Given the description of an element on the screen output the (x, y) to click on. 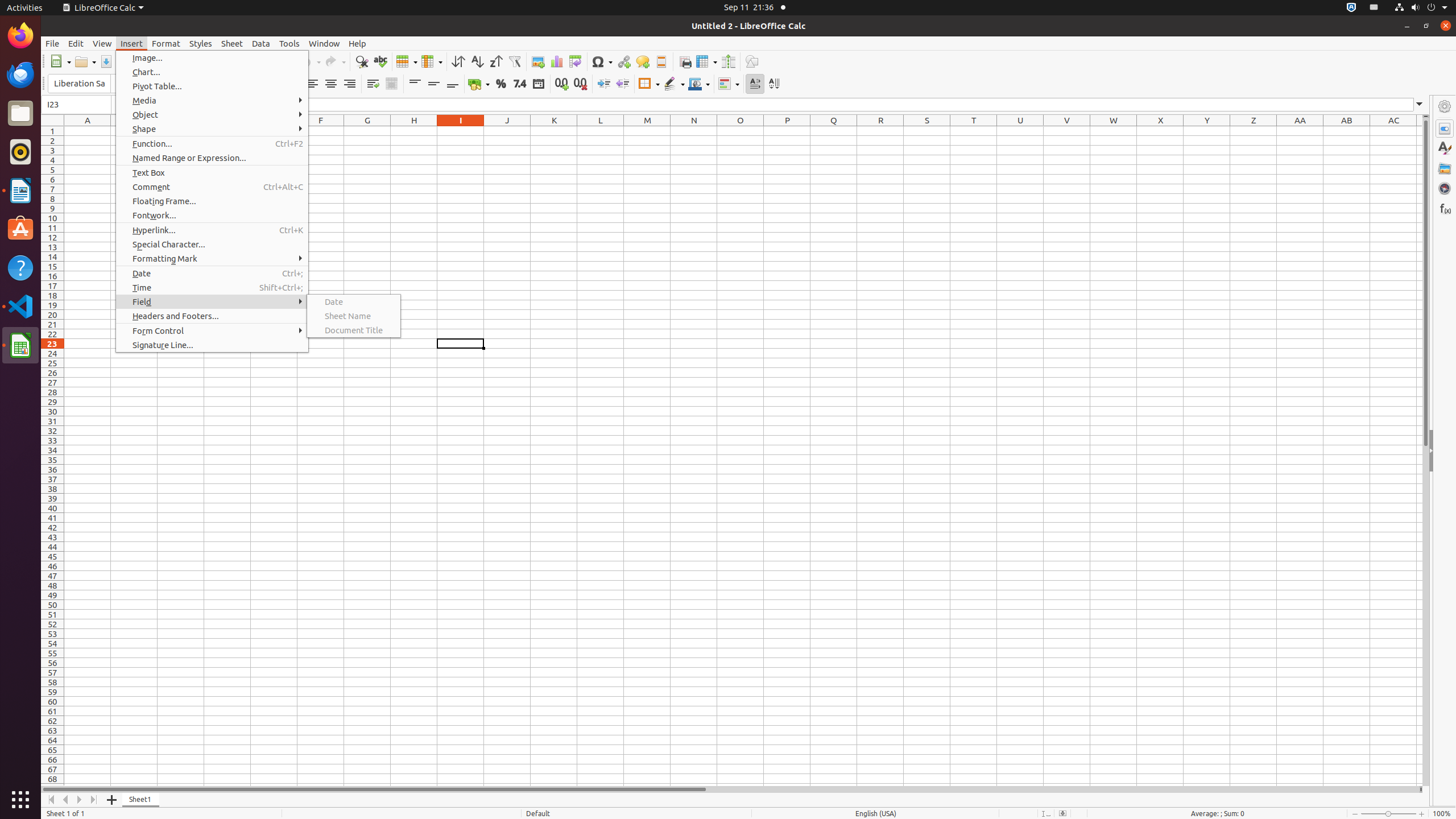
Navigator Element type: radio-button (1444, 188)
Text direction from left to right Element type: toggle-button (754, 83)
AB1 Element type: table-cell (1346, 130)
Chart Element type: push-button (556, 61)
H1 Element type: table-cell (413, 130)
